Given the description of an element on the screen output the (x, y) to click on. 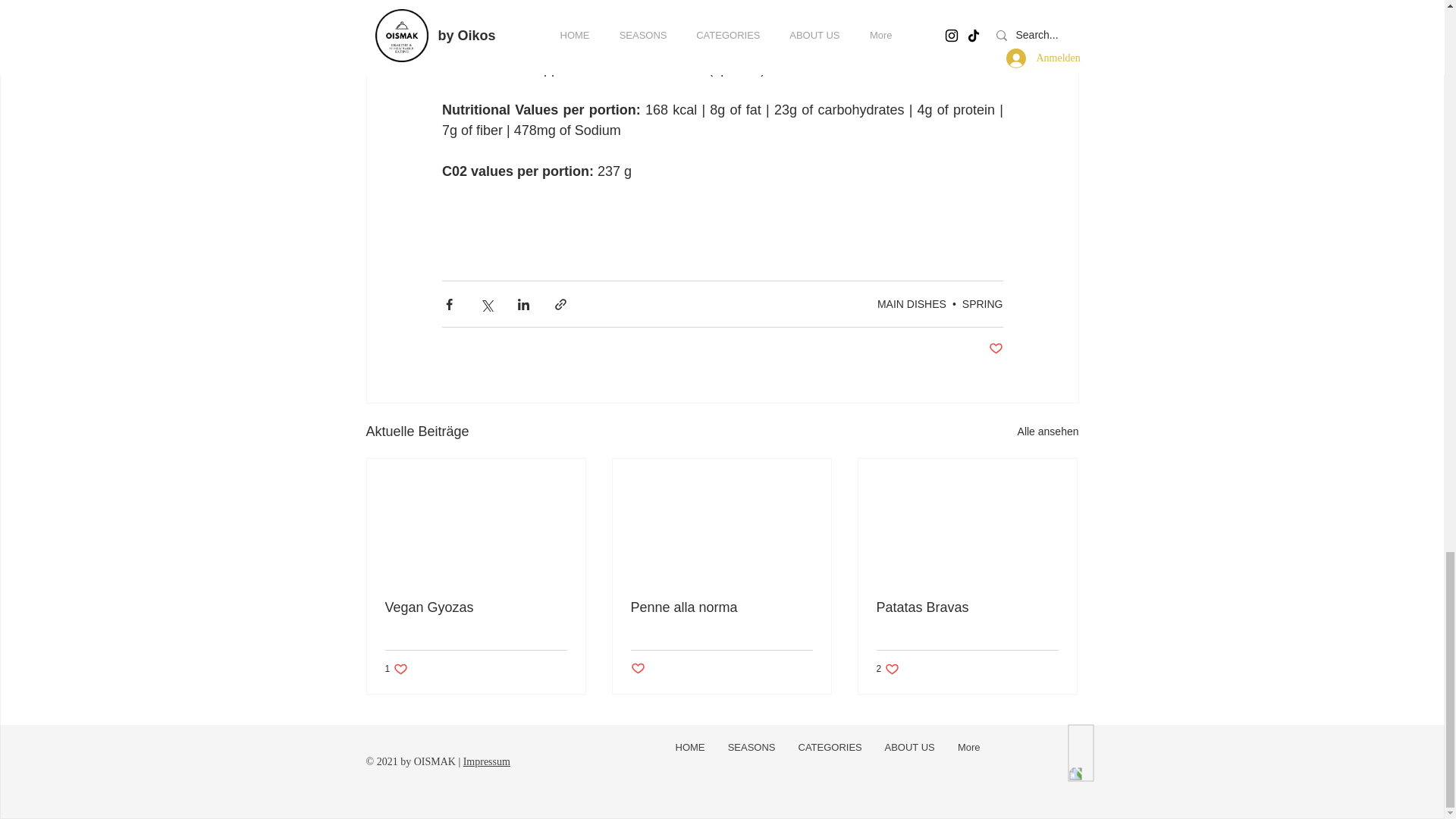
SPRING (982, 304)
MAIN DISHES (911, 304)
Alle ansehen (1047, 431)
